Given the description of an element on the screen output the (x, y) to click on. 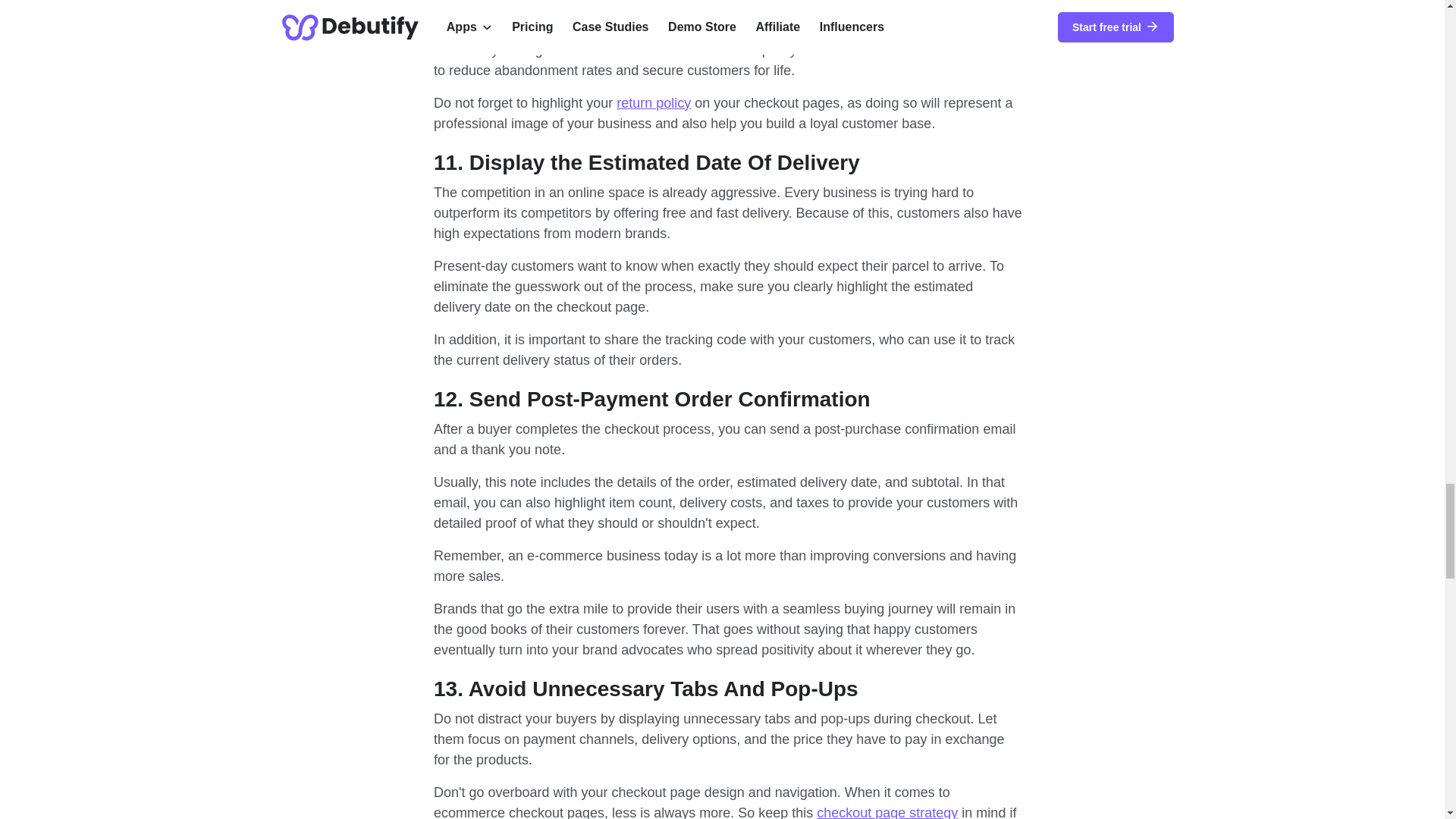
checkout page strategy (887, 812)
return policy (652, 102)
